Given the description of an element on the screen output the (x, y) to click on. 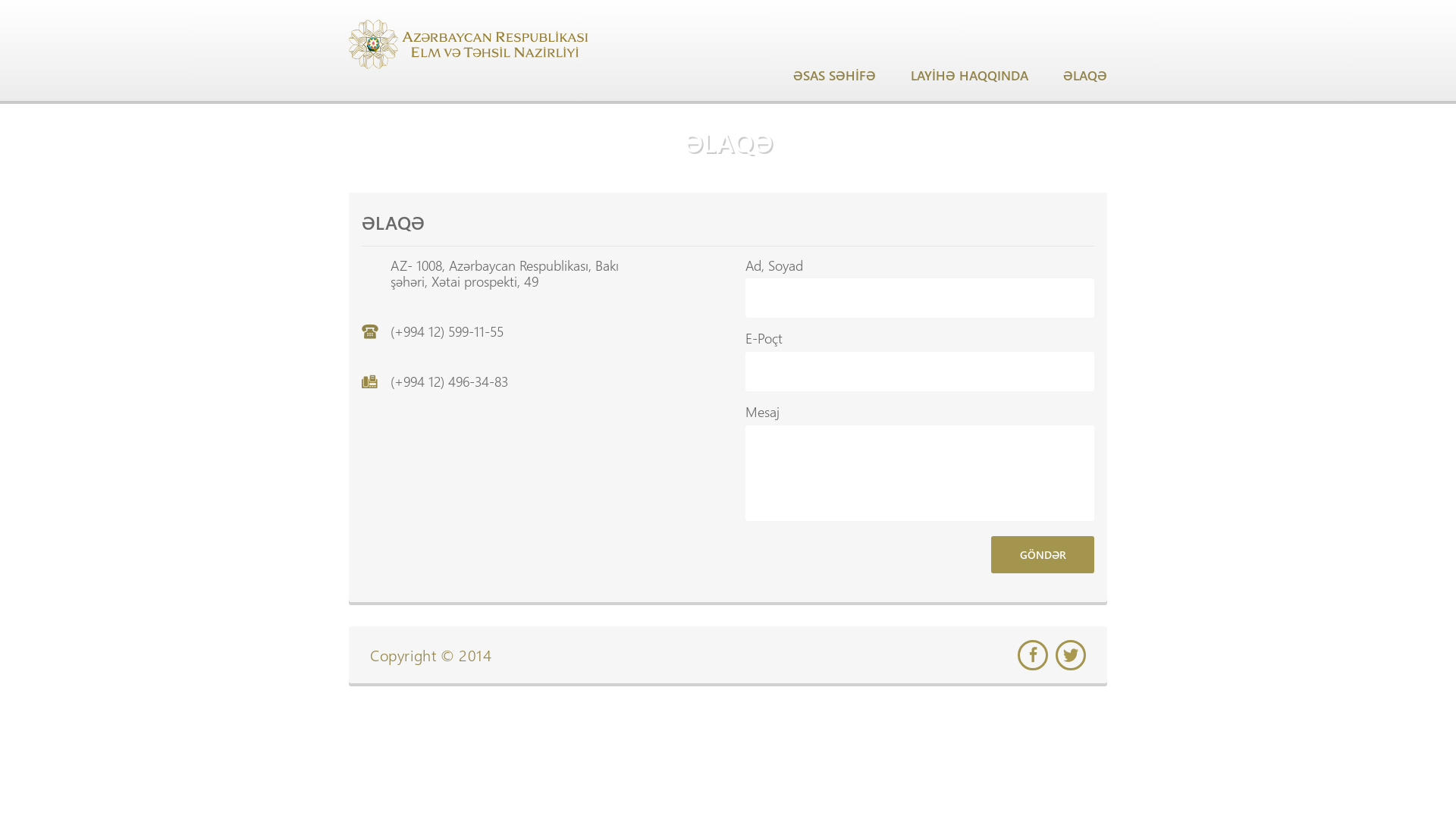
Facebook Element type: text (1032, 655)
Twitter Element type: text (1070, 655)
